Given the description of an element on the screen output the (x, y) to click on. 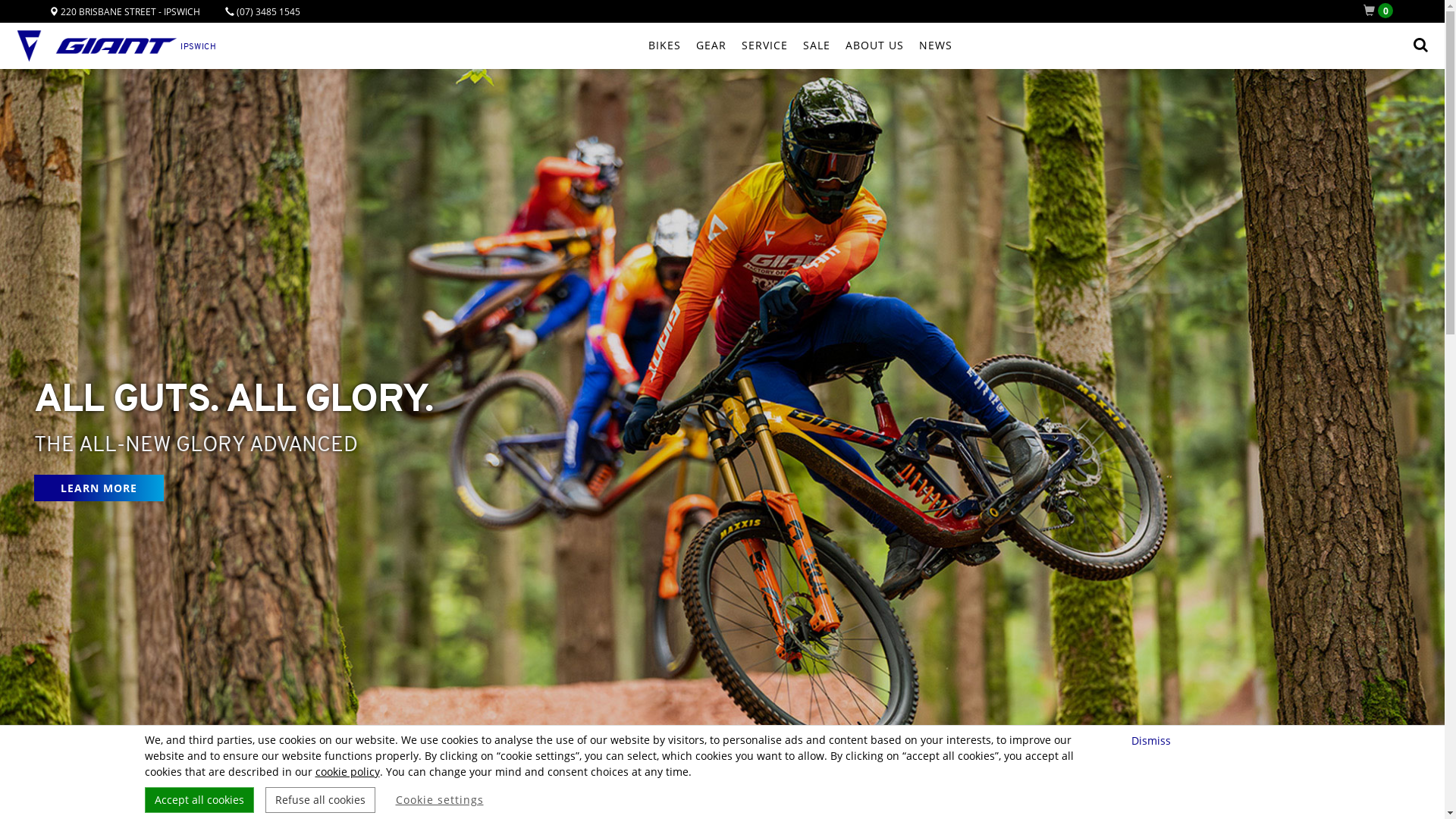
Refuse all cookies Element type: text (320, 799)
NEWS Element type: text (935, 45)
ABOUT US Element type: text (873, 45)
Dismiss Element type: text (1152, 740)
0 item(s) in cart
0
Total amount Element type: text (1381, 10)
BIKES Element type: text (663, 45)
SALE Element type: text (815, 45)
cookie policy Element type: text (347, 771)
SERVICE Element type: text (764, 45)
LEARN MORE Element type: text (98, 487)
GEAR Element type: text (711, 45)
Cookie settings Element type: text (439, 799)
Accept all cookies Element type: text (198, 799)
